Given the description of an element on the screen output the (x, y) to click on. 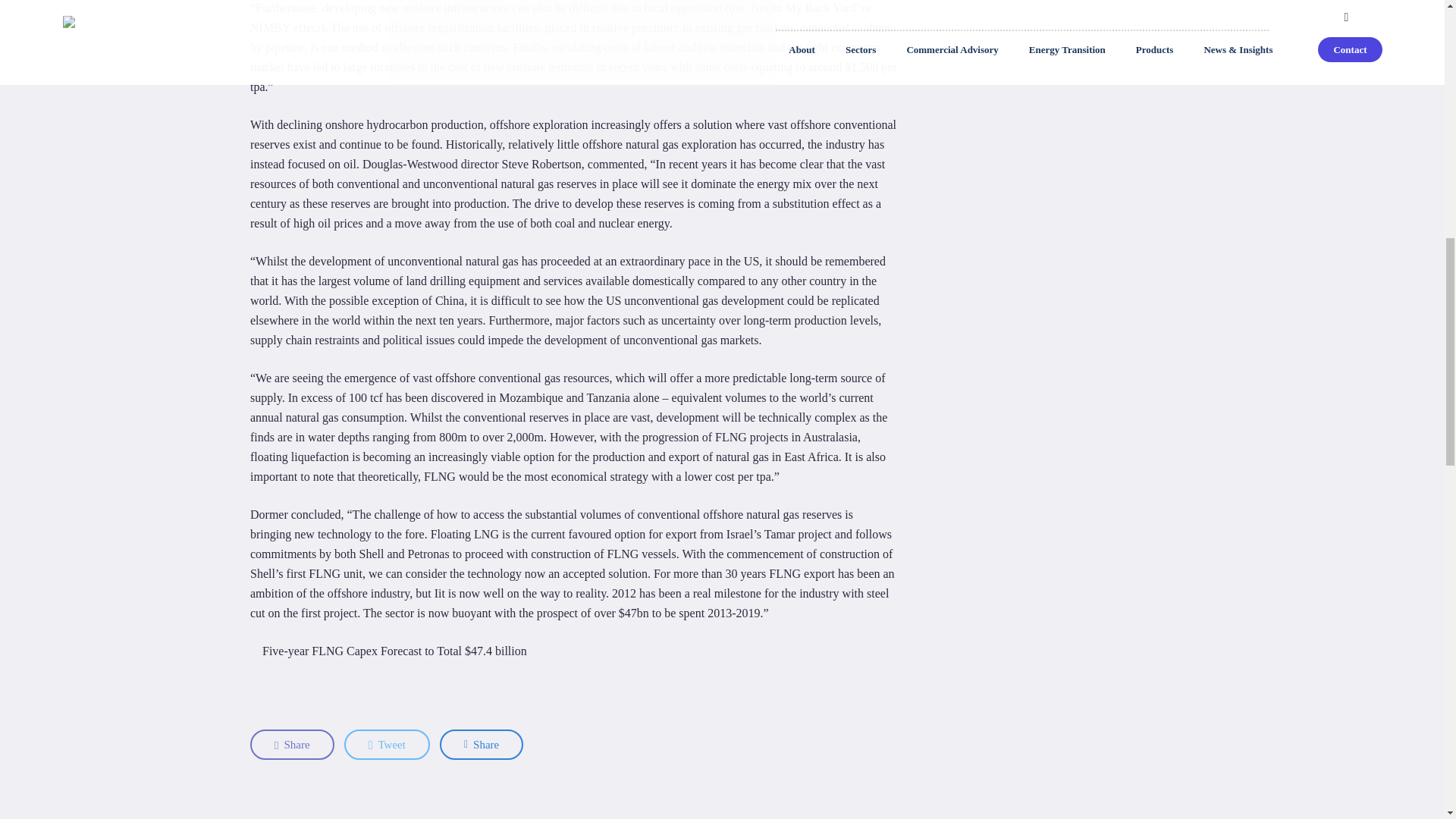
Tweet this (386, 744)
Share this (292, 744)
Share this (480, 744)
